Given the description of an element on the screen output the (x, y) to click on. 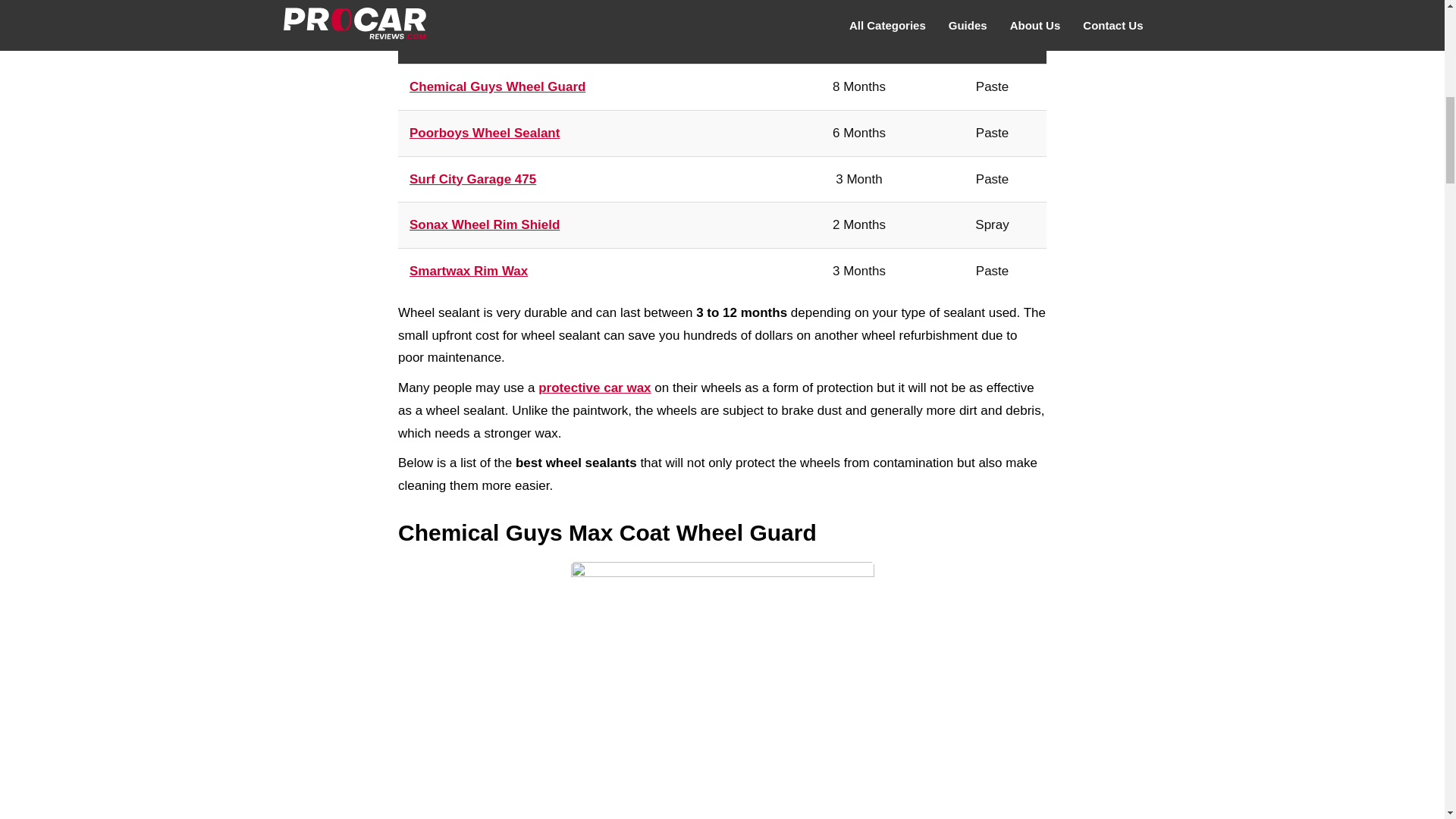
Poorboys Wheel Sealant (484, 133)
Chemical Guys Wheel Guard (497, 86)
Sonax Wheel Rim Shield (484, 224)
protective car wax (594, 387)
Smartwax Rim Wax (468, 270)
Surf City Garage 475 (472, 178)
